Given the description of an element on the screen output the (x, y) to click on. 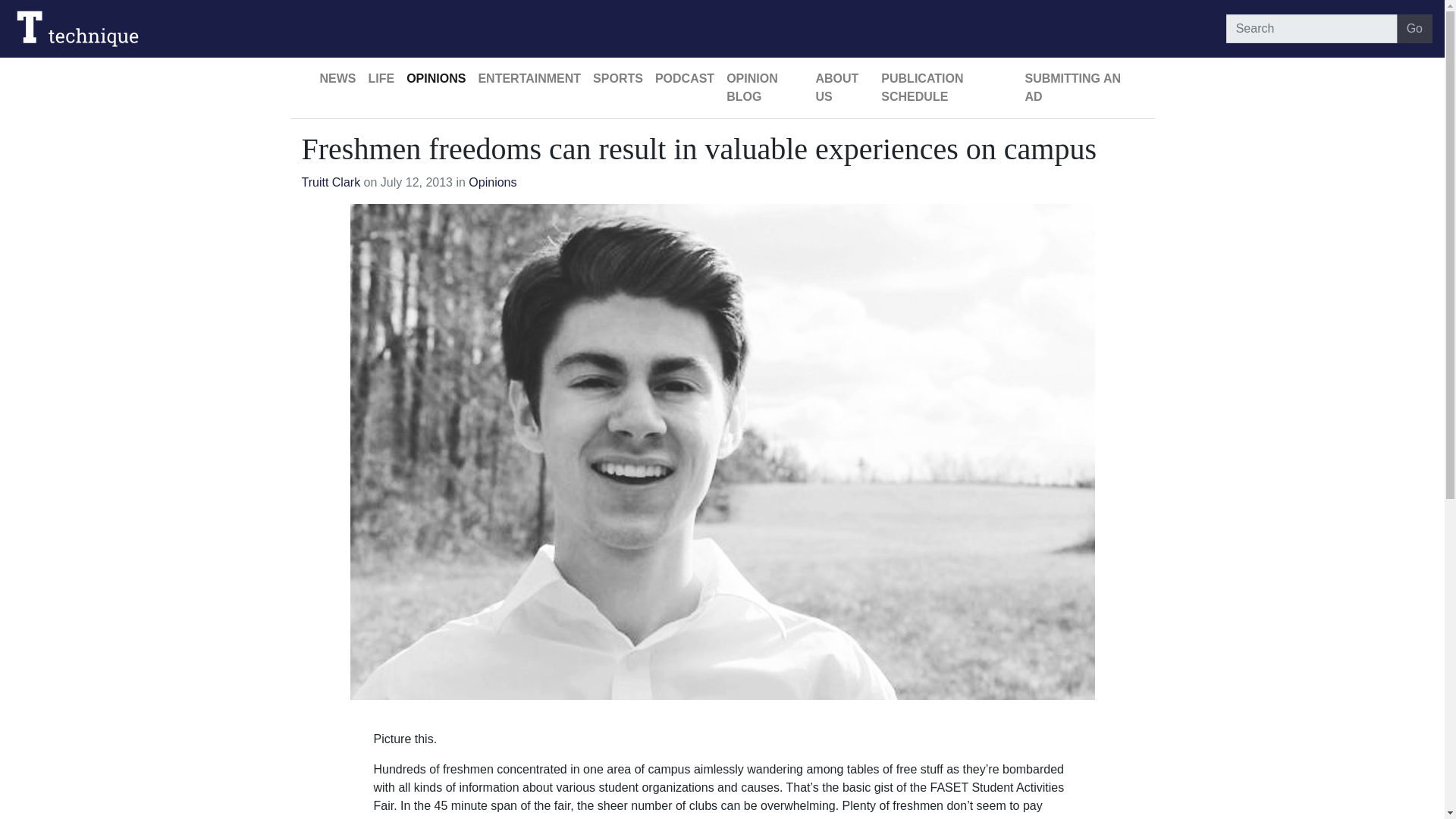
ENTERTAINMENT (528, 78)
Go (1414, 28)
NEWS (338, 78)
Submitting an Ad (1074, 87)
News (338, 78)
PUBLICATION SCHEDULE (946, 87)
Sports (617, 78)
LIFE (381, 78)
Life (381, 78)
Podcast (684, 78)
Opinions (492, 182)
SUBMITTING AN AD (1074, 87)
Publication Schedule (946, 87)
PODCAST (684, 78)
About Us (842, 87)
